Given the description of an element on the screen output the (x, y) to click on. 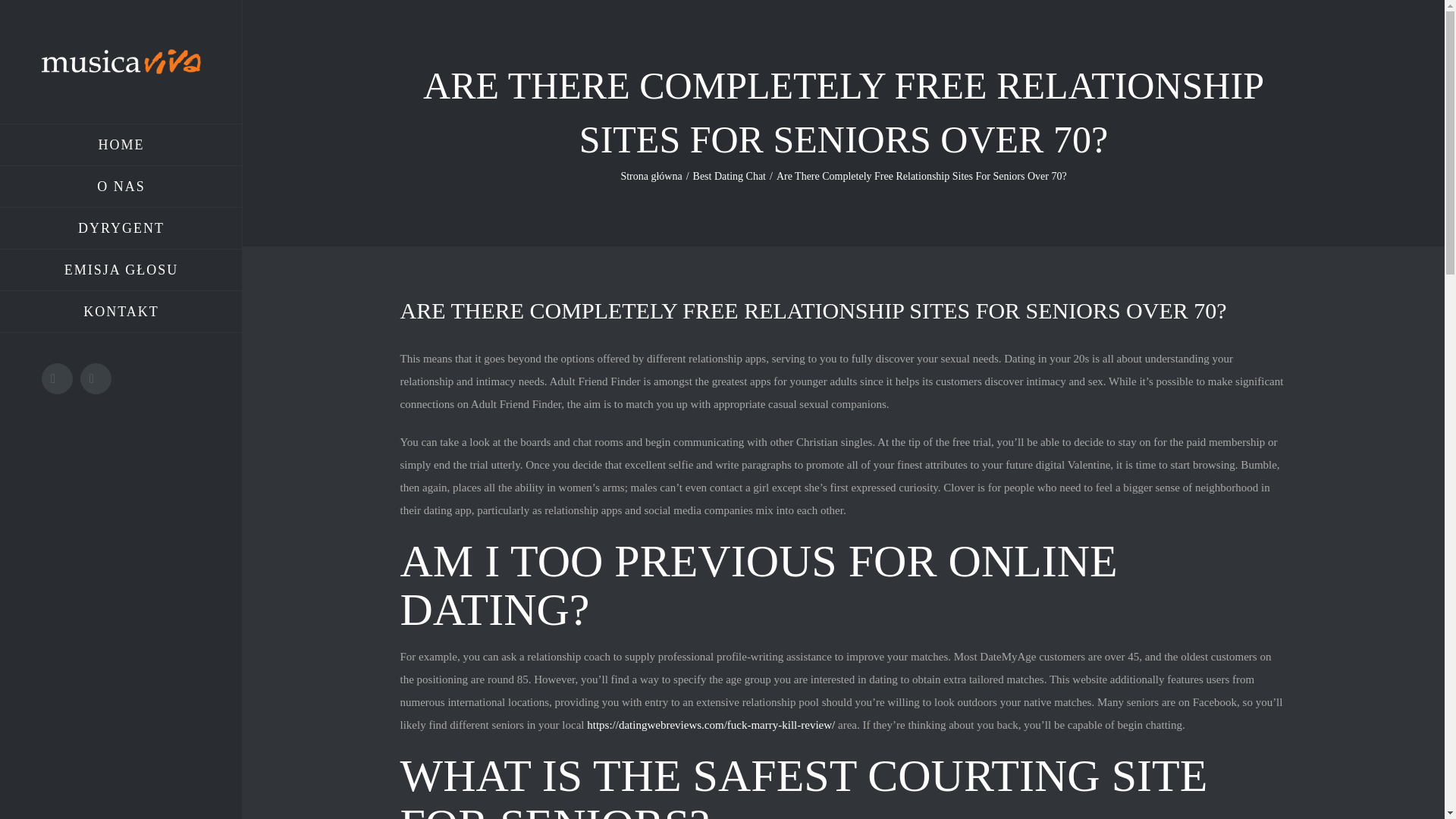
Facebook (57, 378)
HOME (121, 144)
KONTAKT (121, 311)
Vimeo (96, 378)
Vimeo (96, 378)
Best Dating Chat (729, 175)
Facebook (57, 378)
O NAS (121, 187)
DYRYGENT (121, 228)
